Given the description of an element on the screen output the (x, y) to click on. 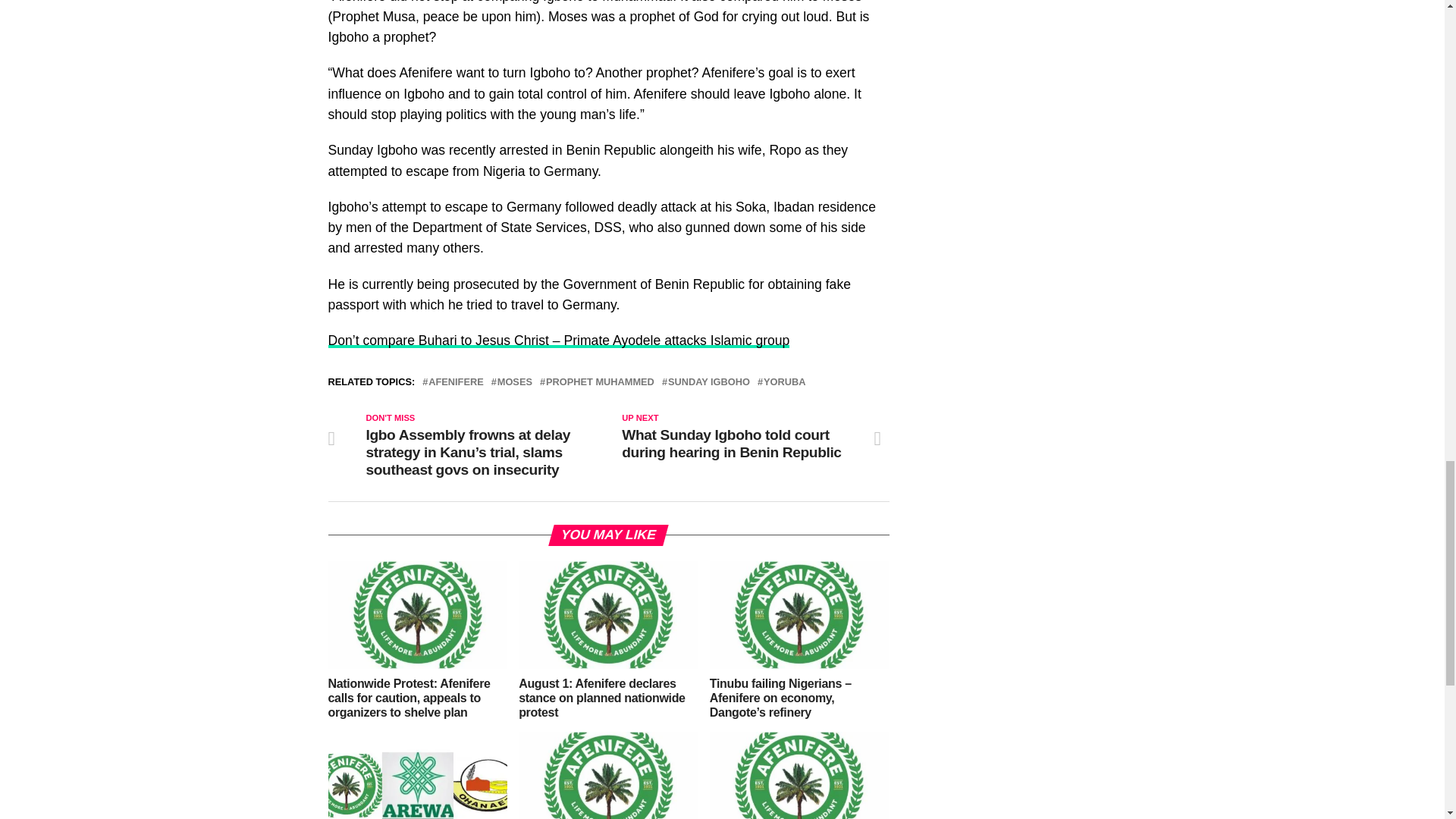
AFENIFERE (455, 382)
SUNDAY IGBOHO (708, 382)
PROPHET MUHAMMED (599, 382)
MOSES (514, 382)
YORUBA (783, 382)
